Given the description of an element on the screen output the (x, y) to click on. 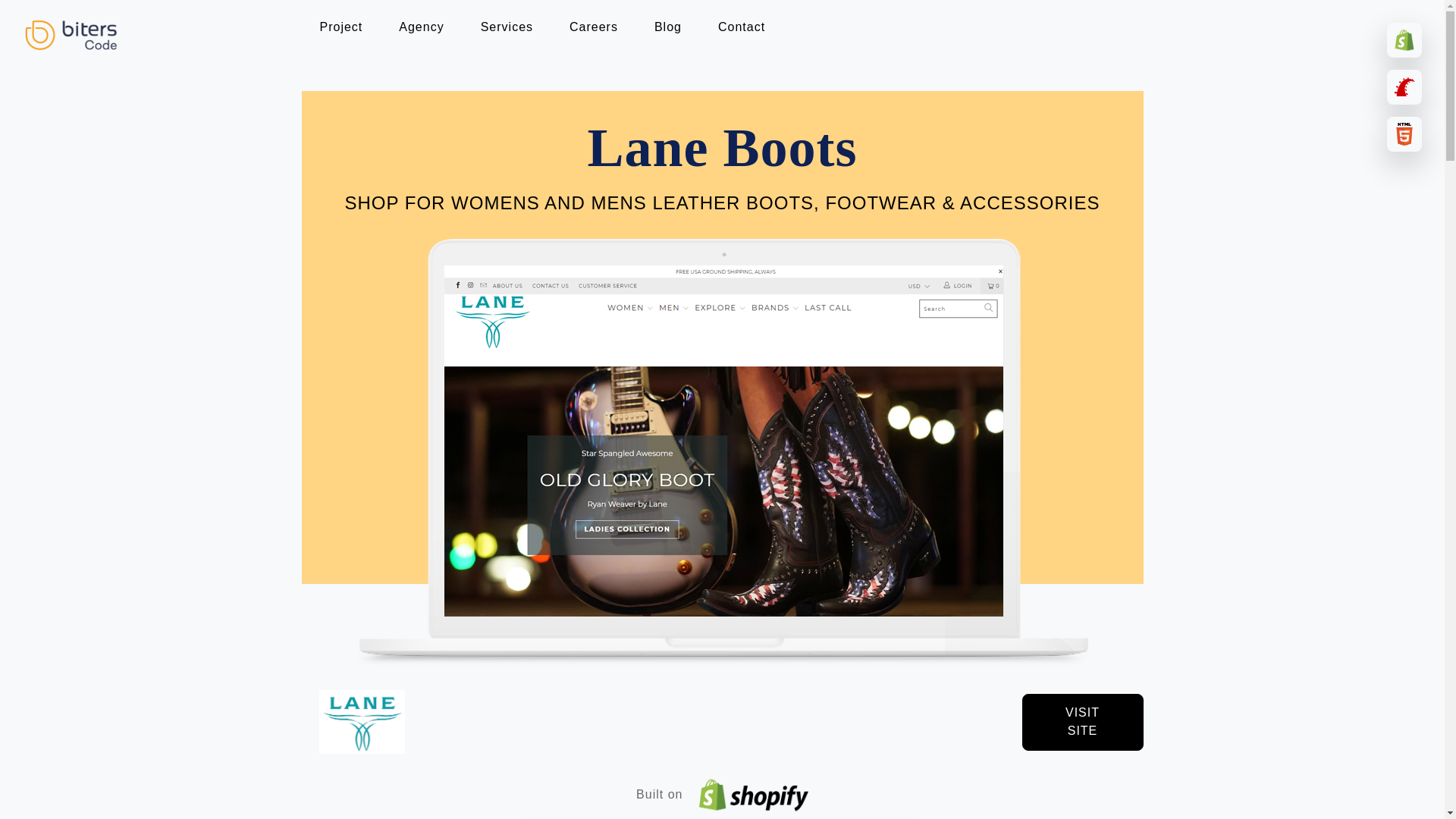
Project (341, 27)
Blog (667, 27)
VISIT SITE (1082, 722)
Contact (741, 27)
Services (506, 27)
Agency (421, 27)
Careers (593, 27)
